Given the description of an element on the screen output the (x, y) to click on. 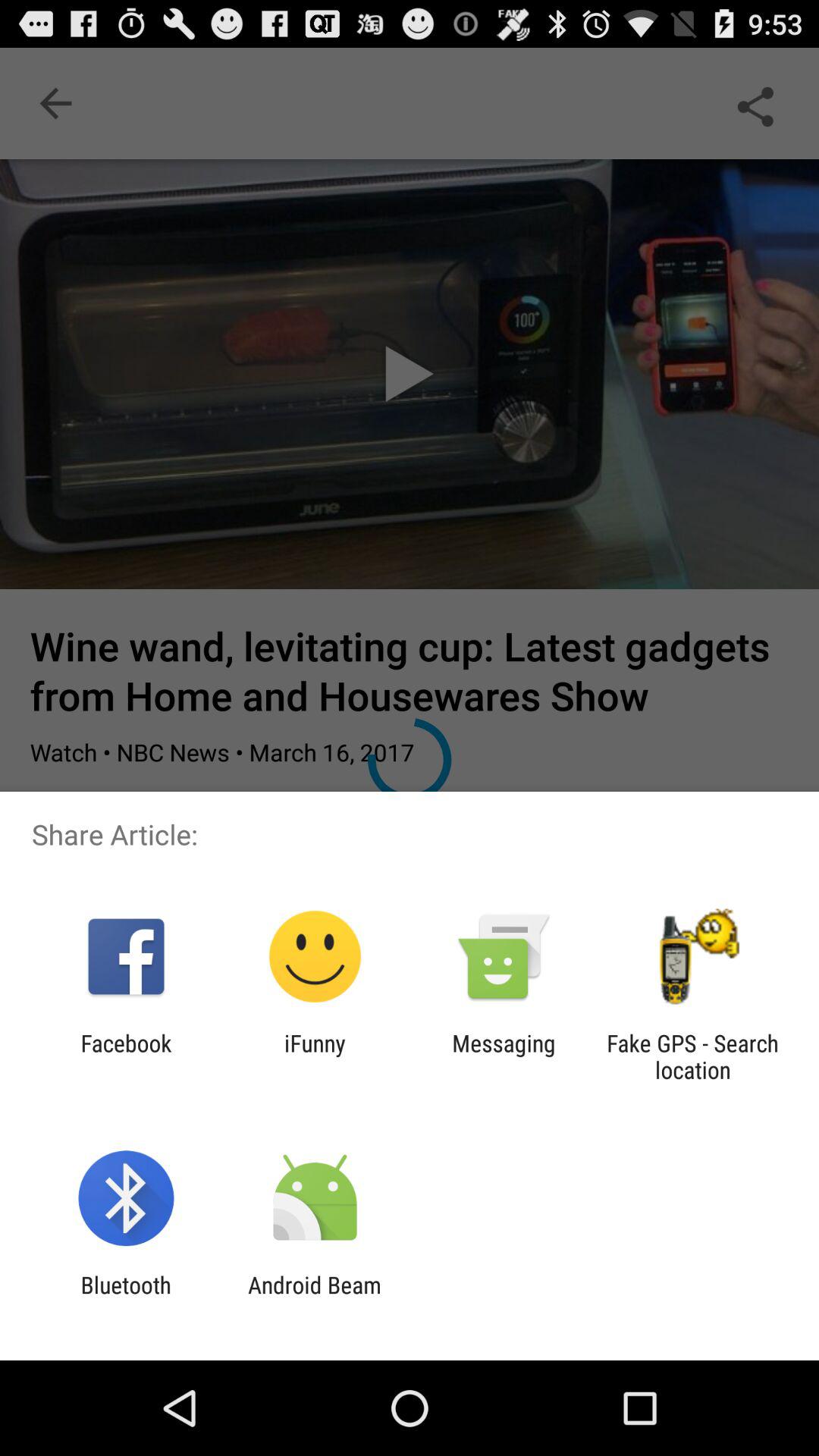
flip to messaging icon (503, 1056)
